Given the description of an element on the screen output the (x, y) to click on. 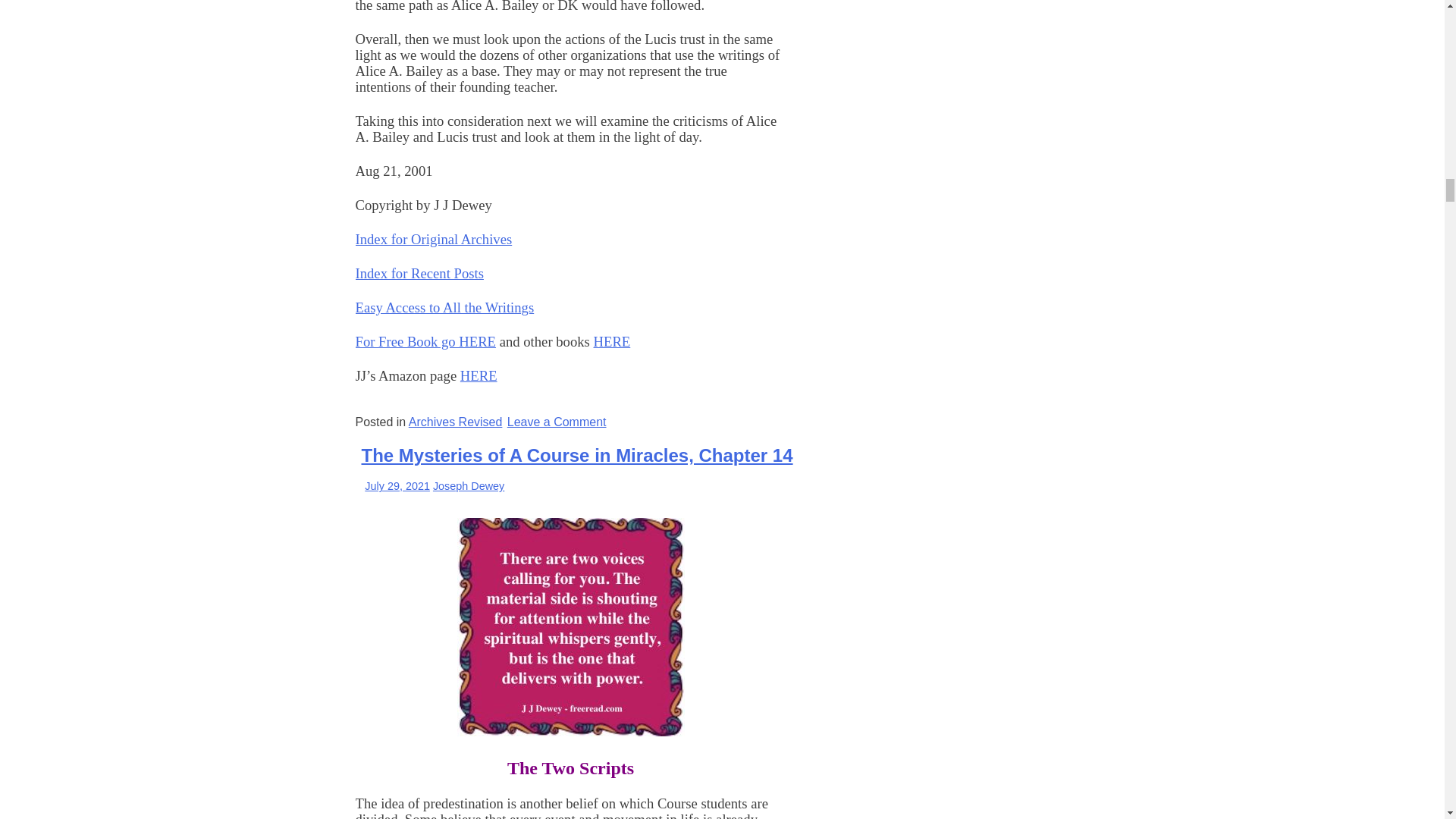
The Mysteries of A Course in Miracles, Chapter 14 (576, 455)
HERE (612, 341)
July 29, 2021 (397, 485)
Joseph Dewey (467, 485)
Index for Original Archives (433, 238)
Archives Revised (455, 421)
Easy Access to All the Writings (444, 307)
HERE (478, 375)
For Free Book go HERE (556, 421)
